Given the description of an element on the screen output the (x, y) to click on. 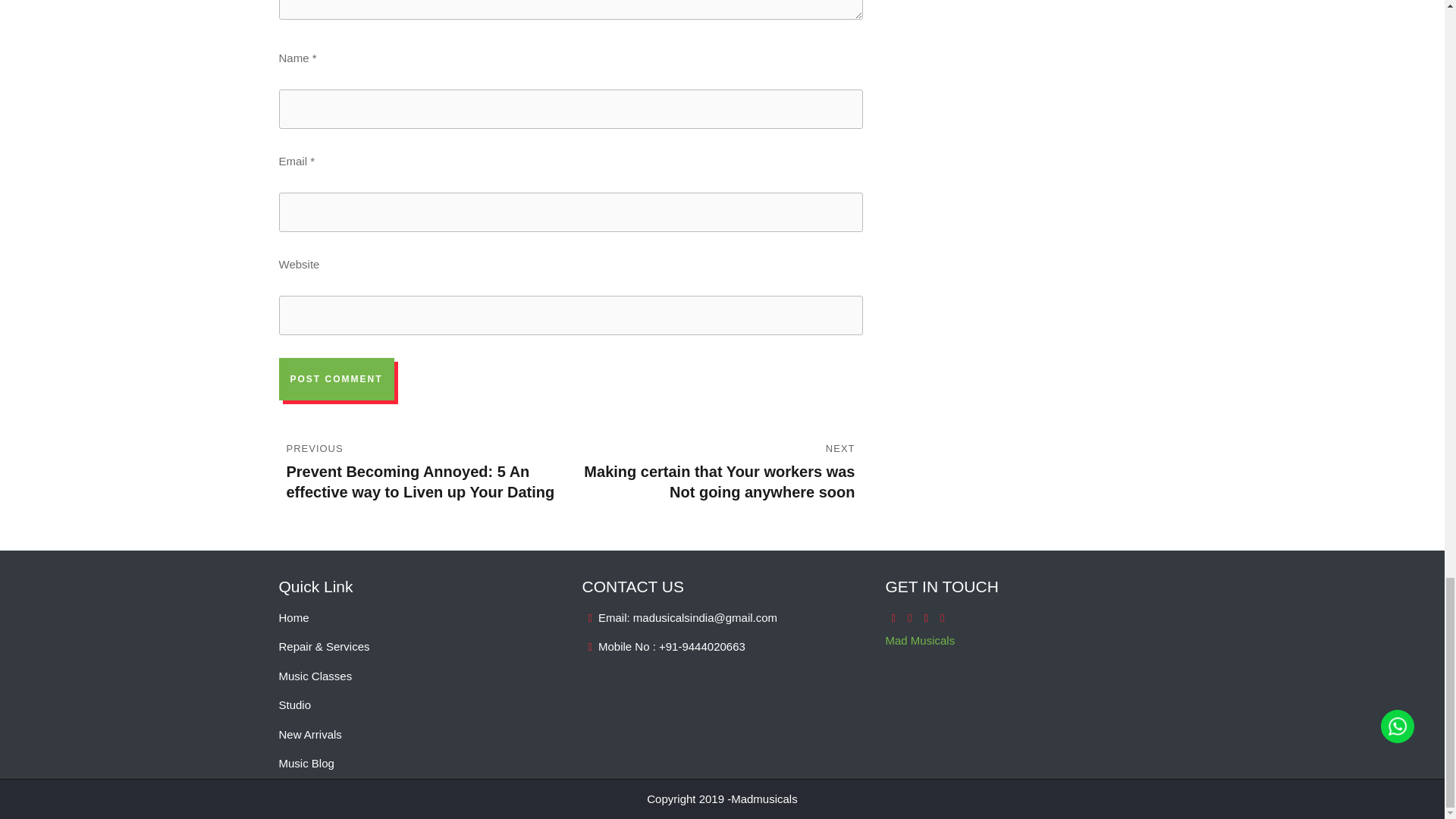
Post Comment (336, 378)
Post Comment (336, 378)
